Given the description of an element on the screen output the (x, y) to click on. 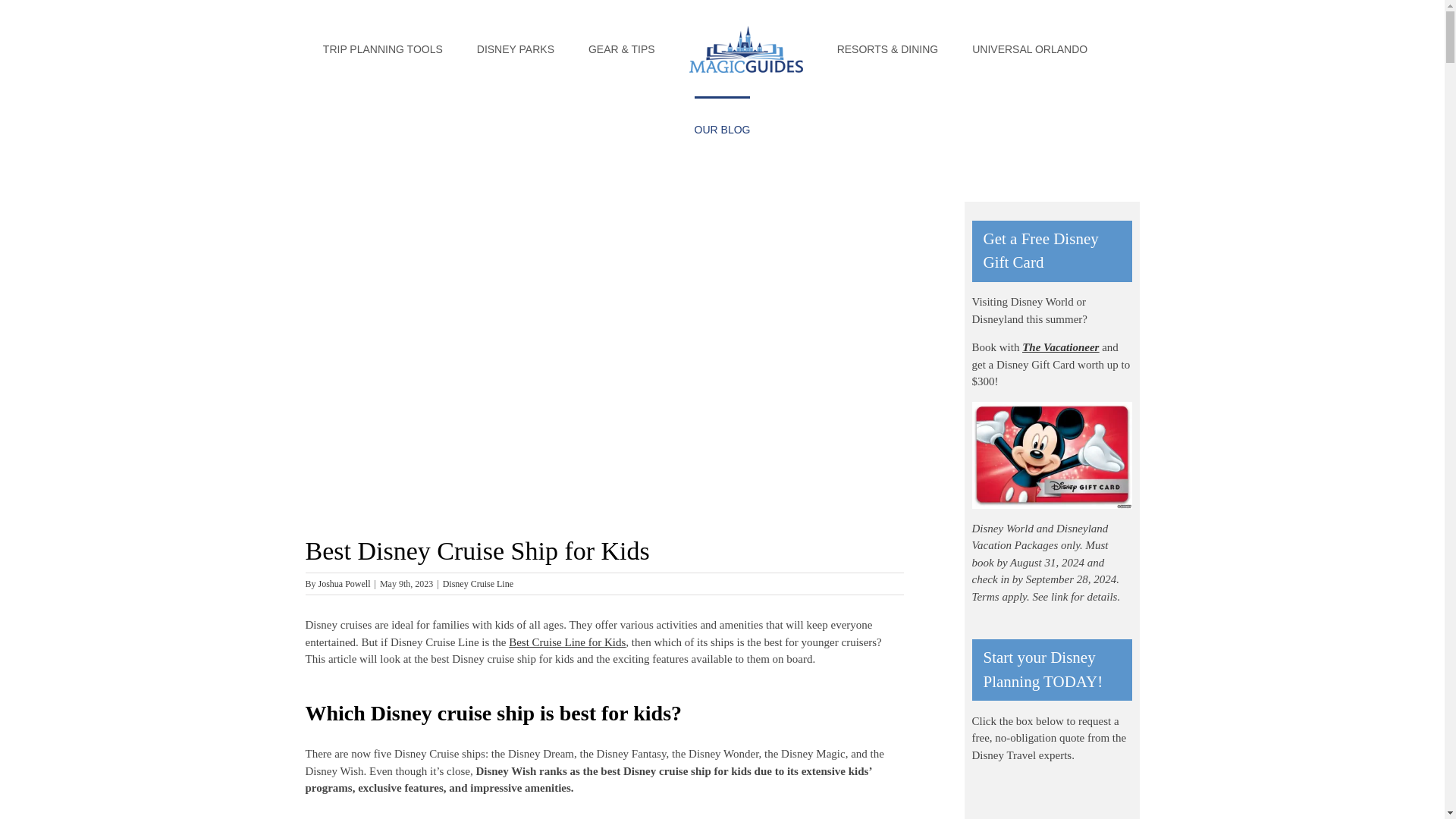
TRIP PLANNING TOOLS (382, 48)
Posts by Joshua Powell (344, 583)
